Given the description of an element on the screen output the (x, y) to click on. 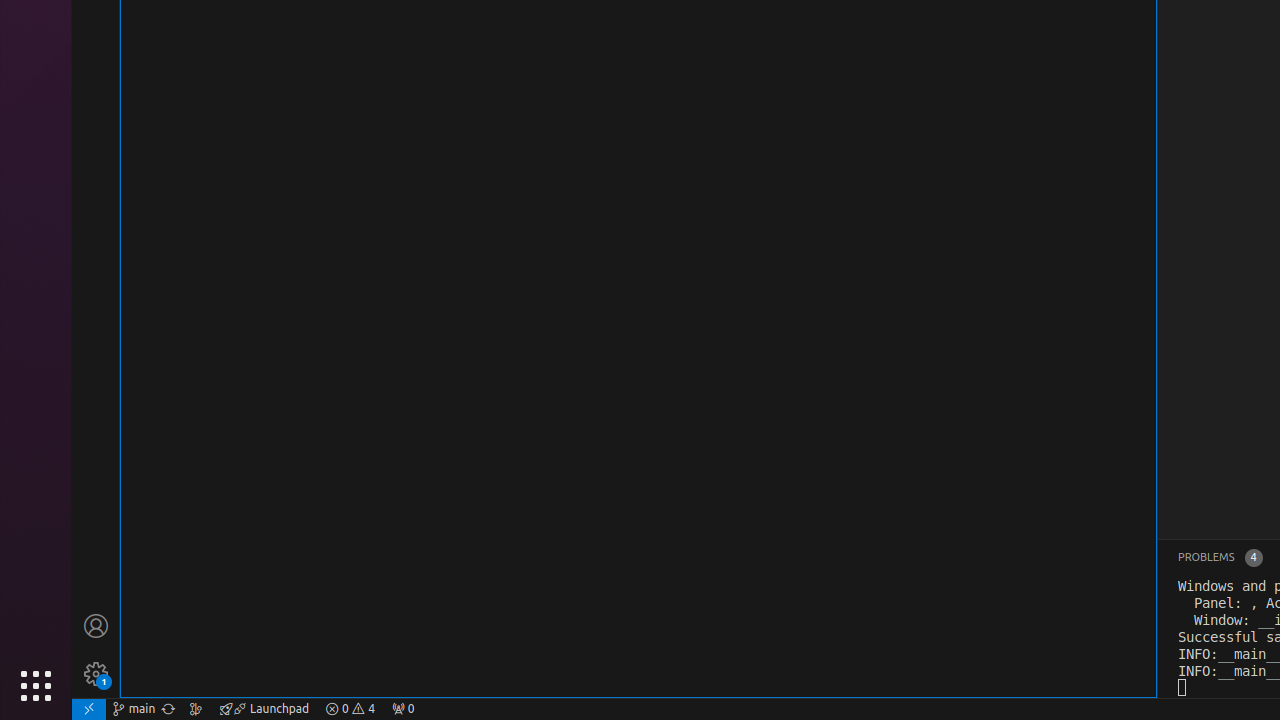
Warnings: 4 Element type: push-button (350, 709)
